Given the description of an element on the screen output the (x, y) to click on. 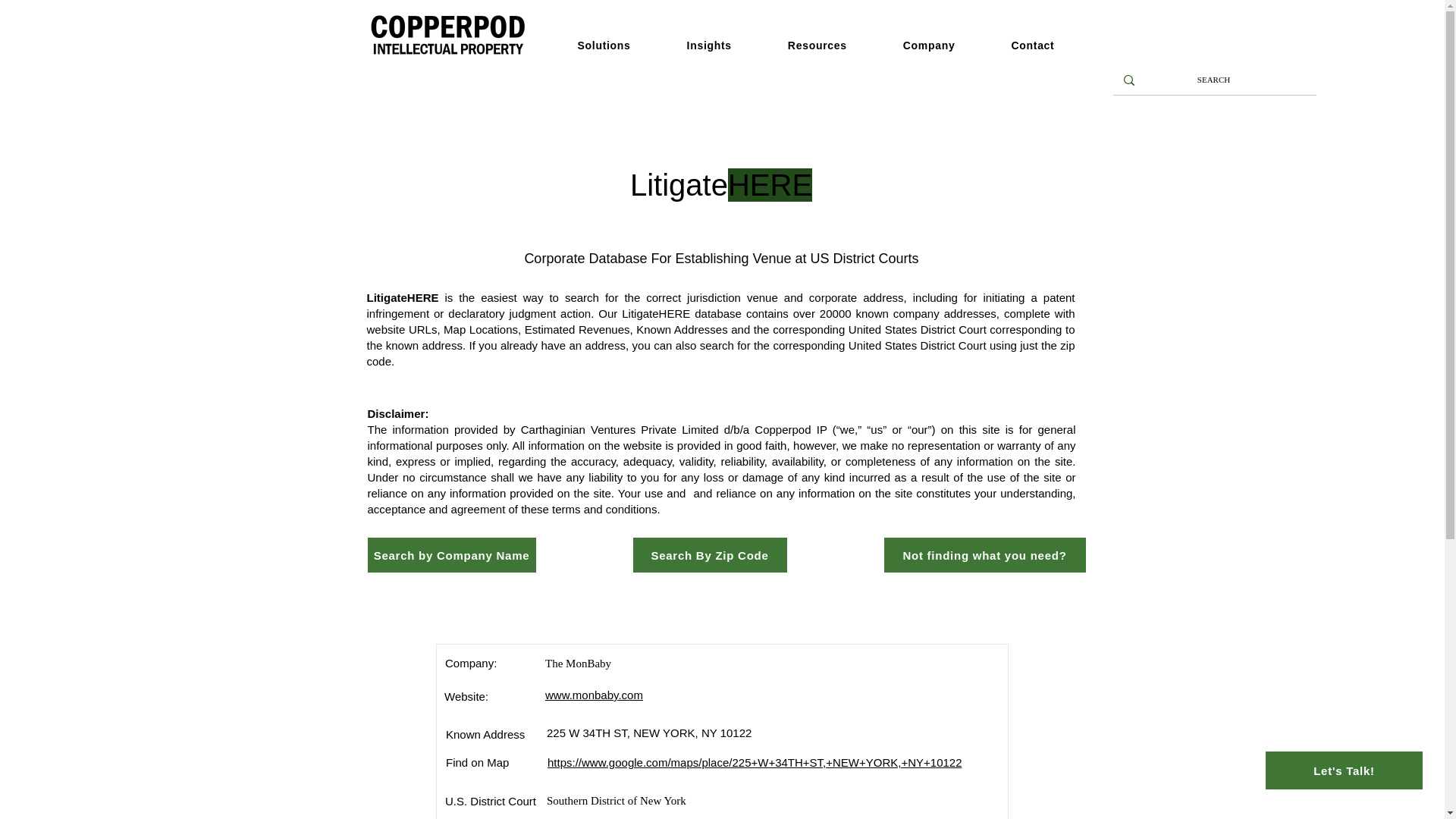
Insights (721, 45)
Search by Company Name (450, 554)
Contact (1045, 45)
Search By Zip Code (708, 554)
Not finding what you need? (984, 554)
